Given the description of an element on the screen output the (x, y) to click on. 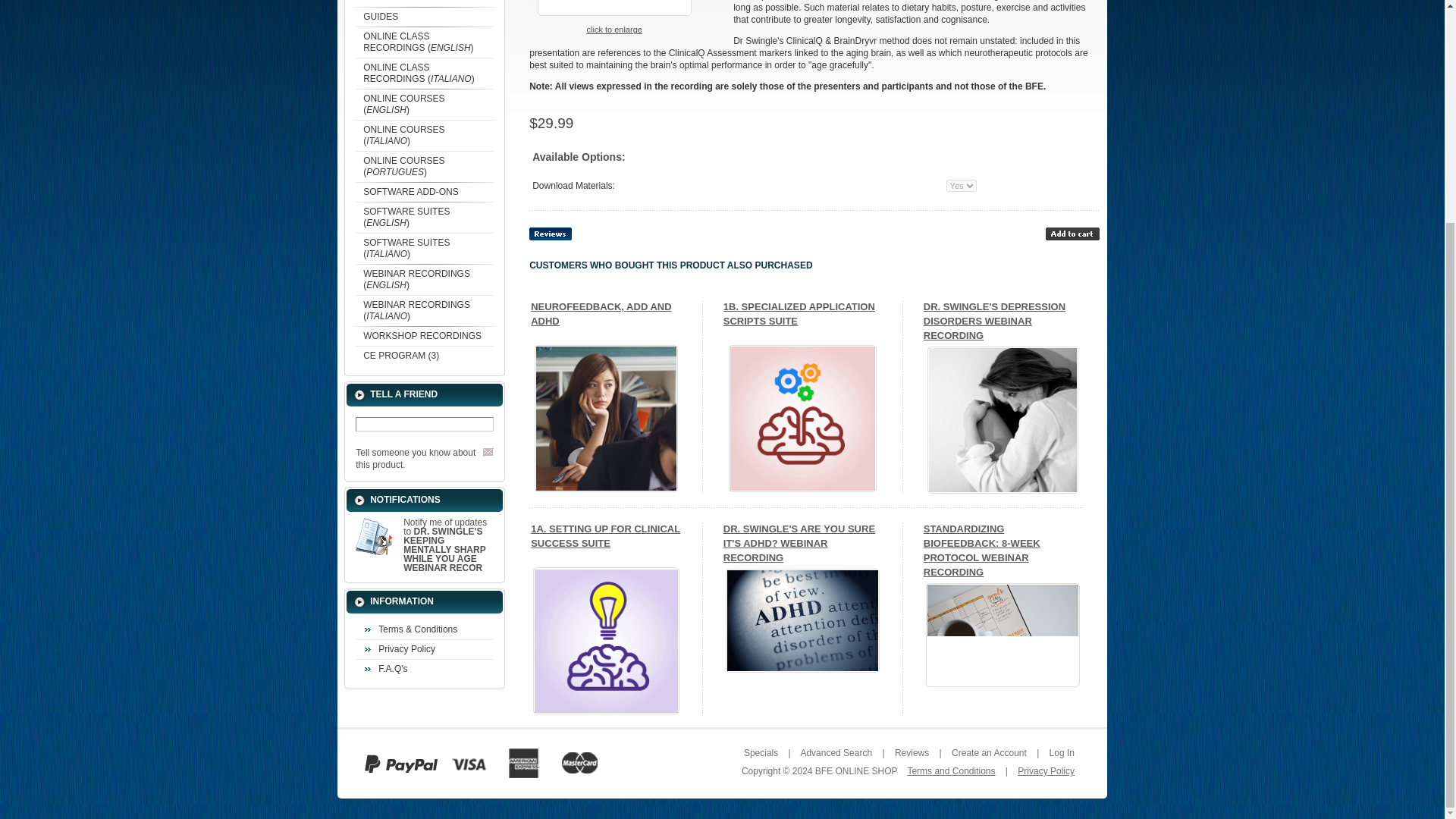
 1B. SPECIALIZED APPLICATION SCRIPTS SUITE  (802, 418)
 NEUROFEEDBACK, ADD AND ADHD  (606, 418)
 Reviews  (550, 233)
 DR. SWINGLE'S DEPRESSION DISORDERS WEBINAR RECORDING  (1002, 420)
WORKSHOP RECORDINGS (424, 335)
Privacy Policy (424, 649)
 1A. SETTING UP FOR CLINICAL SUCCESS SUITE  (606, 640)
GUIDES (424, 16)
F.A.Q's (424, 668)
SOFTWARE ADD-ONS (424, 191)
 DR. SWINGLE'S ARE YOU SURE IT'S ADHD? WEBINAR RECORDING  (801, 620)
 Add to Shopping Cart  (1072, 233)
 Tell A Friend  (488, 451)
